Given the description of an element on the screen output the (x, y) to click on. 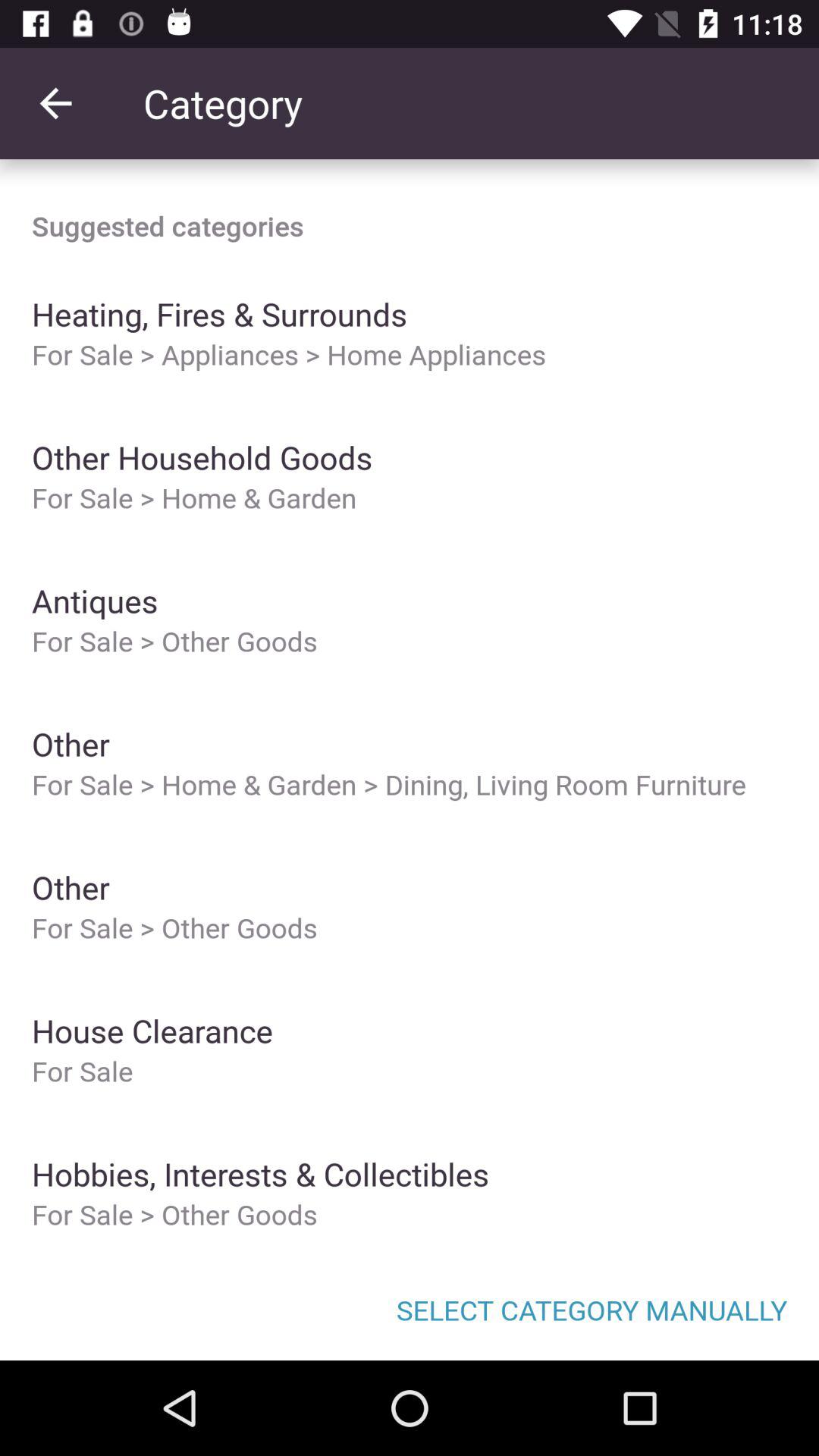
turn on icon to the left of the category (55, 103)
